Given the description of an element on the screen output the (x, y) to click on. 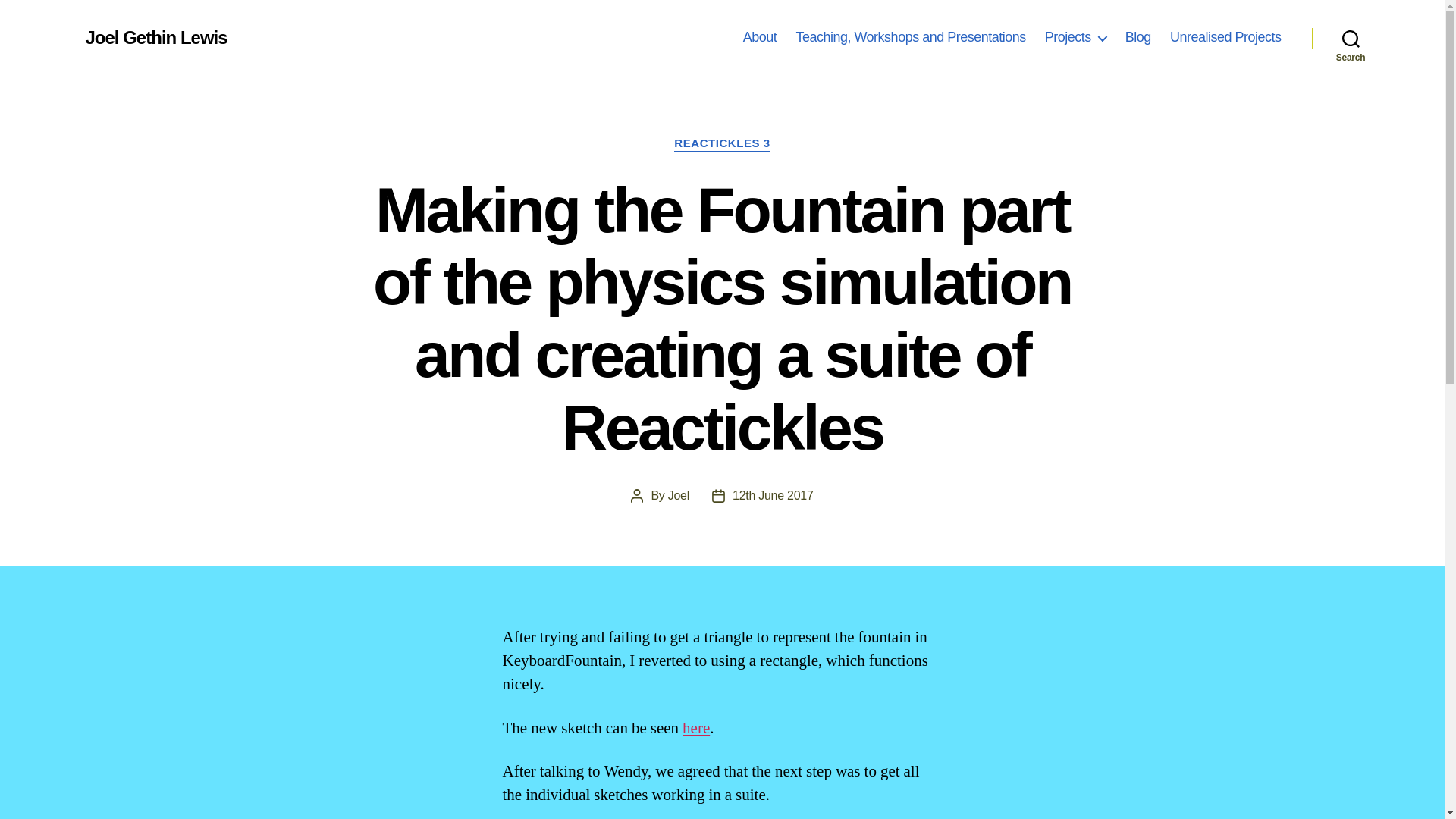
REACTICKLES 3 (722, 143)
About (759, 37)
here (696, 728)
Search (1350, 37)
Blog (1138, 37)
12th June 2017 (772, 495)
Teaching, Workshops and Presentations (909, 37)
Projects (1075, 37)
Unrealised Projects (1225, 37)
Joel Gethin Lewis (155, 37)
Joel (678, 495)
